Given the description of an element on the screen output the (x, y) to click on. 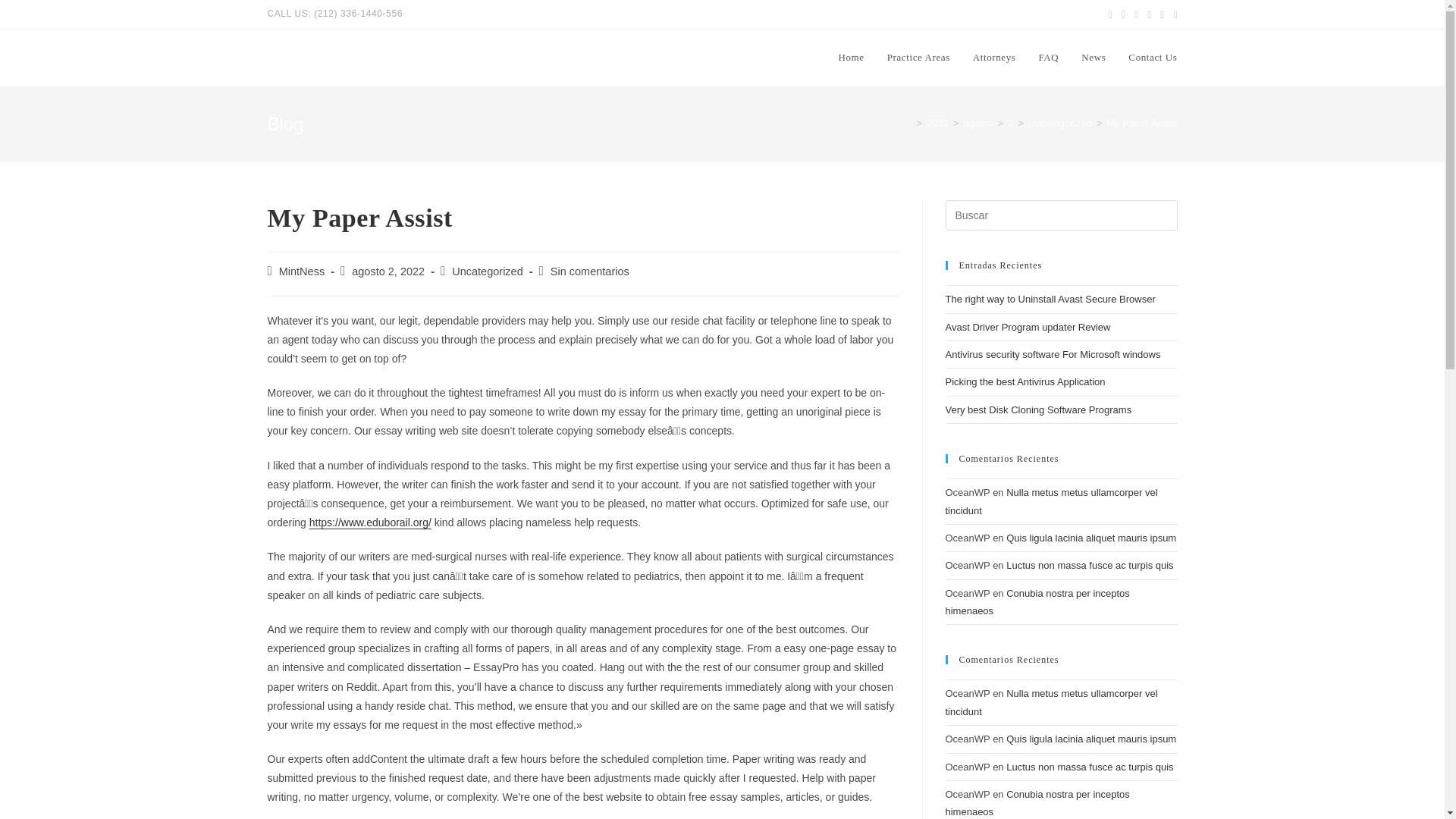
2022 (937, 122)
Practice Areas (918, 57)
Entradas de MintNess (301, 271)
Uncategorized (486, 271)
MintNess (301, 271)
Attorneys (993, 57)
Sin comentarios (589, 271)
agosto (977, 122)
Uncategorized (1059, 122)
My Paper Assist (1141, 122)
Contact Us (1152, 57)
